Given the description of an element on the screen output the (x, y) to click on. 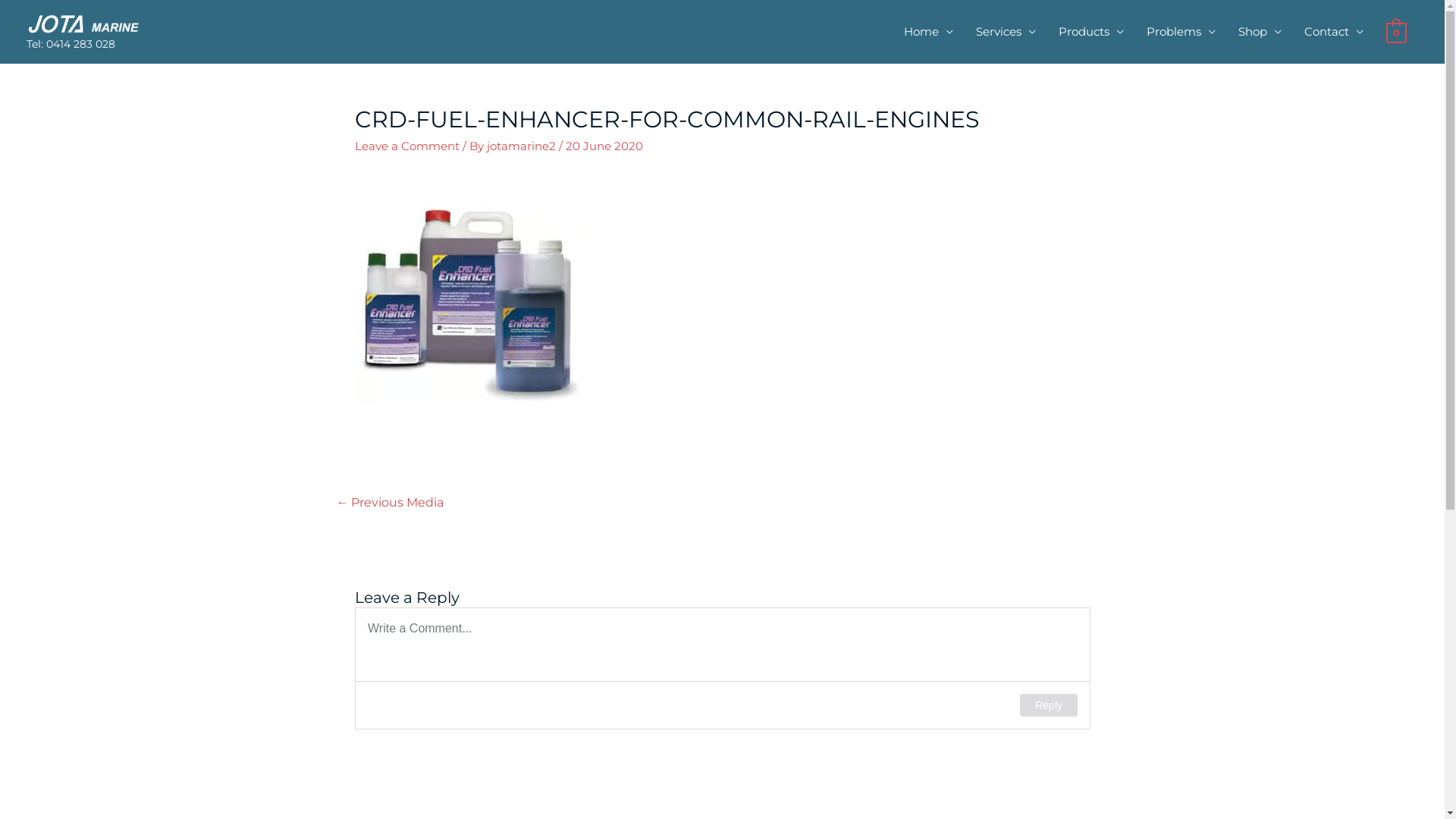
Leave a Comment Element type: text (406, 145)
Shop Element type: text (1259, 31)
0 Element type: text (1396, 32)
Home Element type: text (928, 31)
jotamarine2 Element type: text (522, 145)
Products Element type: text (1091, 31)
Services Element type: text (1005, 31)
Problems Element type: text (1180, 31)
Contact Element type: text (1333, 31)
